Given the description of an element on the screen output the (x, y) to click on. 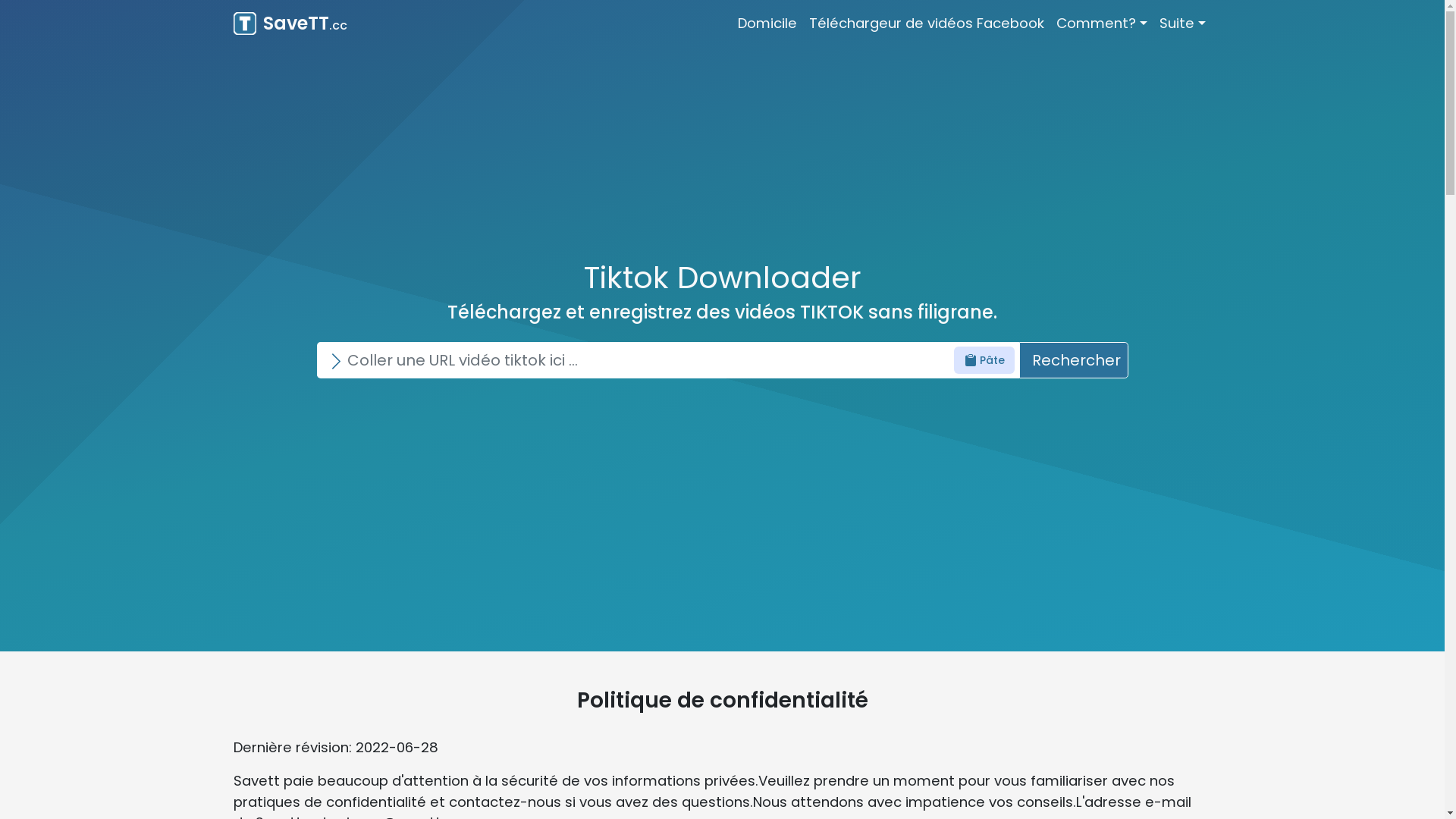
Rechercher Element type: text (1073, 360)
Domicile Element type: text (767, 23)
Comment? Element type: text (1101, 23)
Suite Element type: text (1182, 23)
SaveTT .cc Element type: text (290, 23)
